Given the description of an element on the screen output the (x, y) to click on. 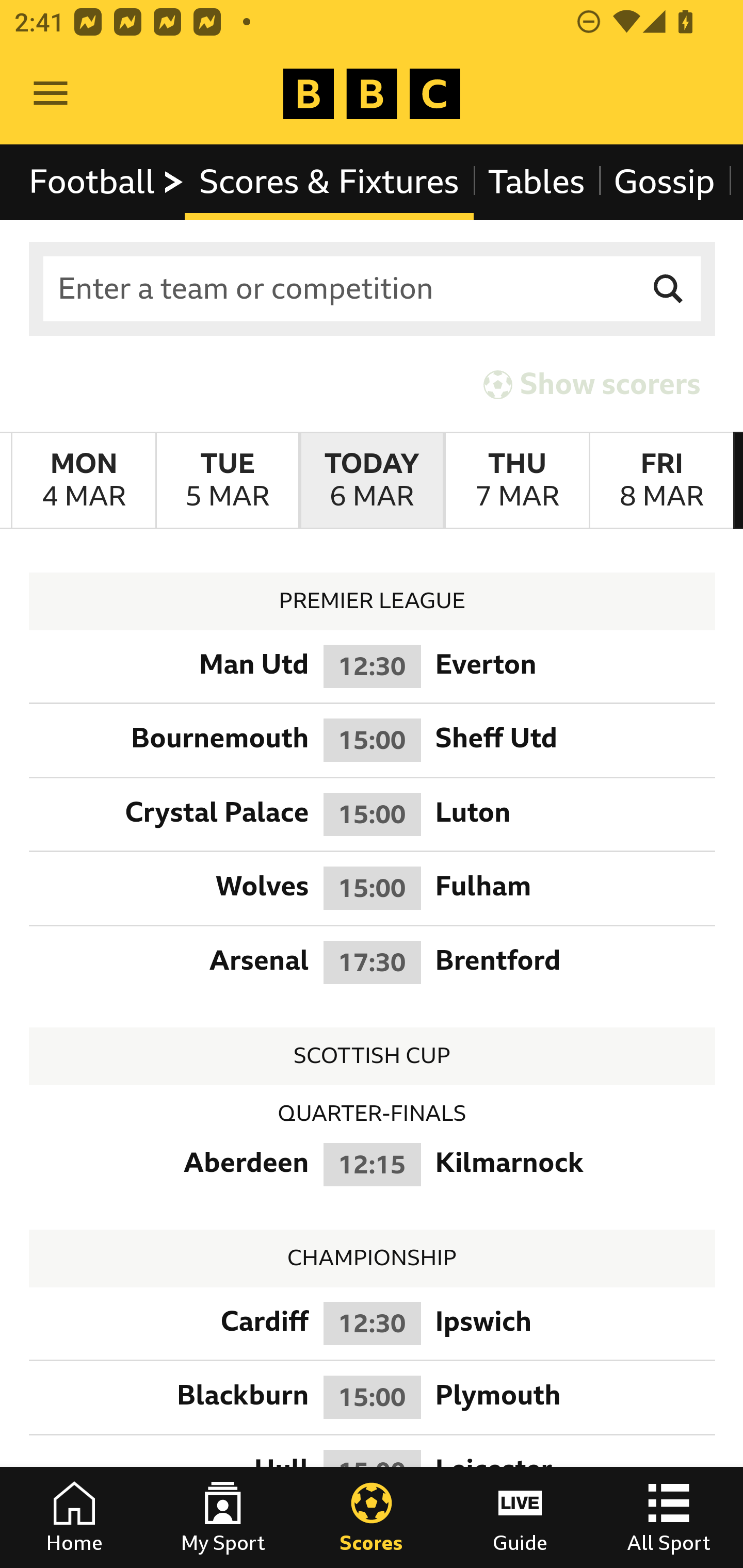
Open Menu (50, 93)
Football  (106, 181)
Scores & Fixtures (329, 181)
Tables (536, 181)
Gossip (664, 181)
Search (669, 289)
Show scorers (591, 383)
MondayMarch 4th Monday March 4th (83, 480)
TuesdayMarch 5th Tuesday March 5th (227, 480)
TodayMarch 6th Today March 6th (371, 480)
ThursdayMarch 7th Thursday March 7th (516, 480)
FridayMarch 8th Friday March 8th (661, 480)
Home (74, 1517)
My Sport (222, 1517)
Guide (519, 1517)
All Sport (668, 1517)
